Given the description of an element on the screen output the (x, y) to click on. 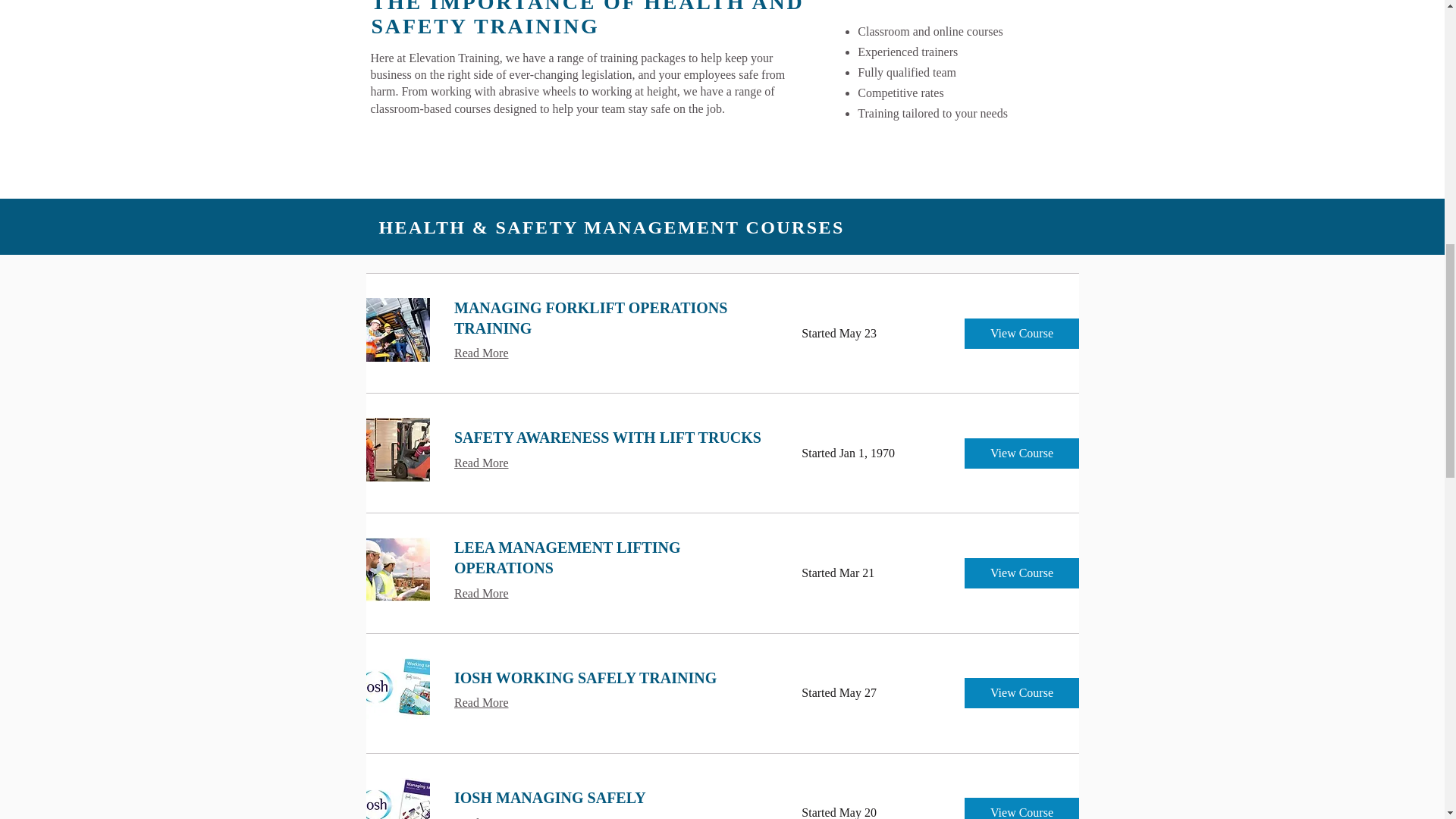
SAFETY AWARENESS WITH LIFT TRUCKS (608, 437)
Read More (480, 352)
View Course (1020, 332)
MANAGING FORKLIFT OPERATIONS TRAINING (608, 318)
